Given the description of an element on the screen output the (x, y) to click on. 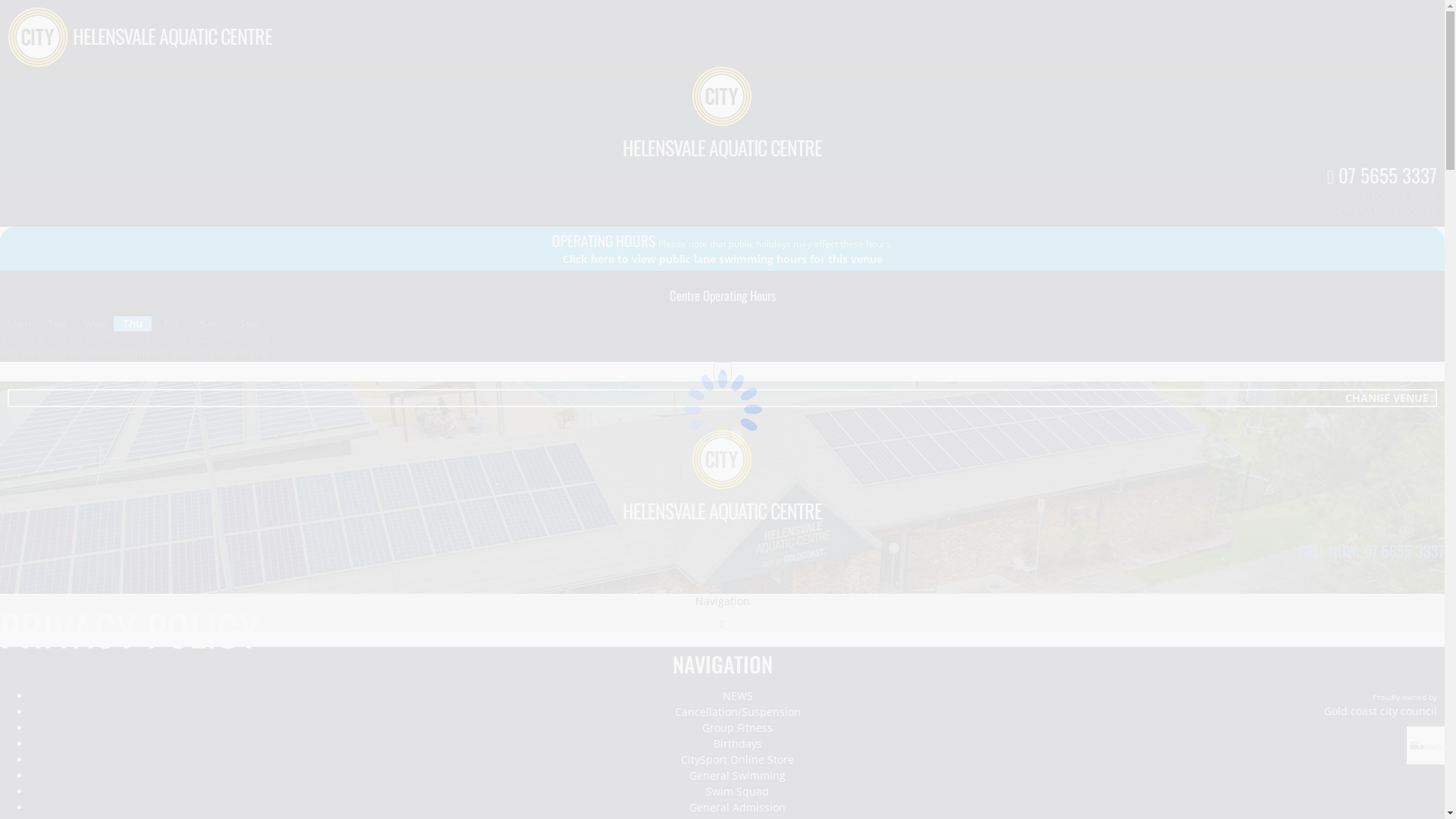
Group Fitness Element type: text (737, 727)
HELENSVALE AQUATIC CENTRE Element type: text (722, 510)
HELENSVALE AQUATIC CENTRE Element type: text (722, 147)
Click here to view public lane swimming hours for this venue Element type: text (722, 258)
HELENSVALE AQUATIC CENTRE Element type: text (172, 35)
CALL NOW: 07 5655 3337 Element type: text (1371, 550)
CitySport Online Store Element type: text (737, 759)
Cancellation/Suspension Element type: text (737, 711)
General Swimming Element type: text (737, 775)
NEWS Element type: text (736, 695)
07 5655 3337 Element type: text (1382, 174)
Swim Squad Element type: text (737, 791)
General Admission Element type: text (737, 807)
Birthdays Element type: text (736, 743)
